Given the description of an element on the screen output the (x, y) to click on. 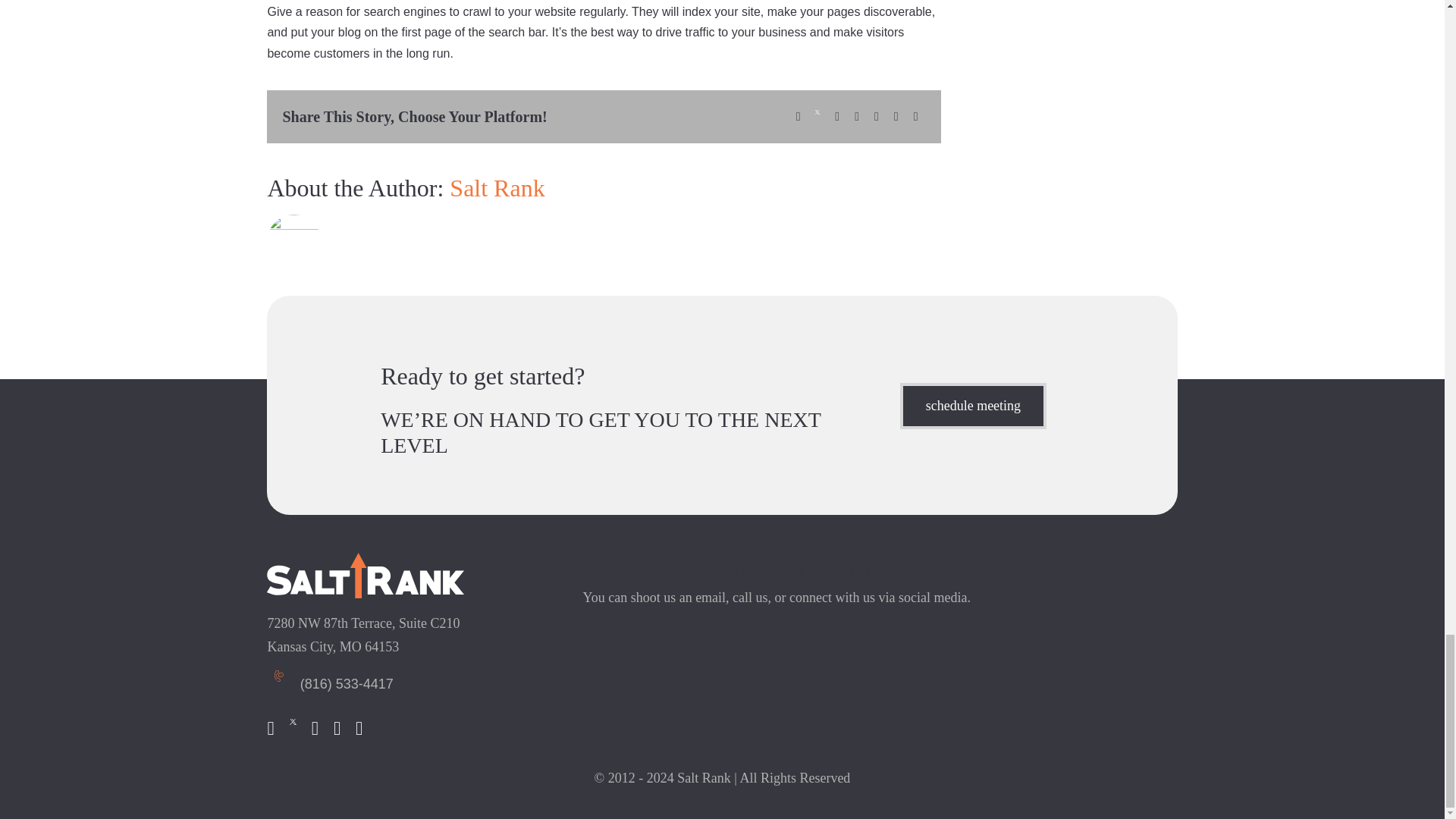
Pinterest (895, 116)
Salt Rank (365, 575)
LinkedIn (837, 116)
Tumblr (876, 116)
WhatsApp (856, 116)
Email (915, 116)
X (817, 116)
Facebook (798, 116)
